Given the description of an element on the screen output the (x, y) to click on. 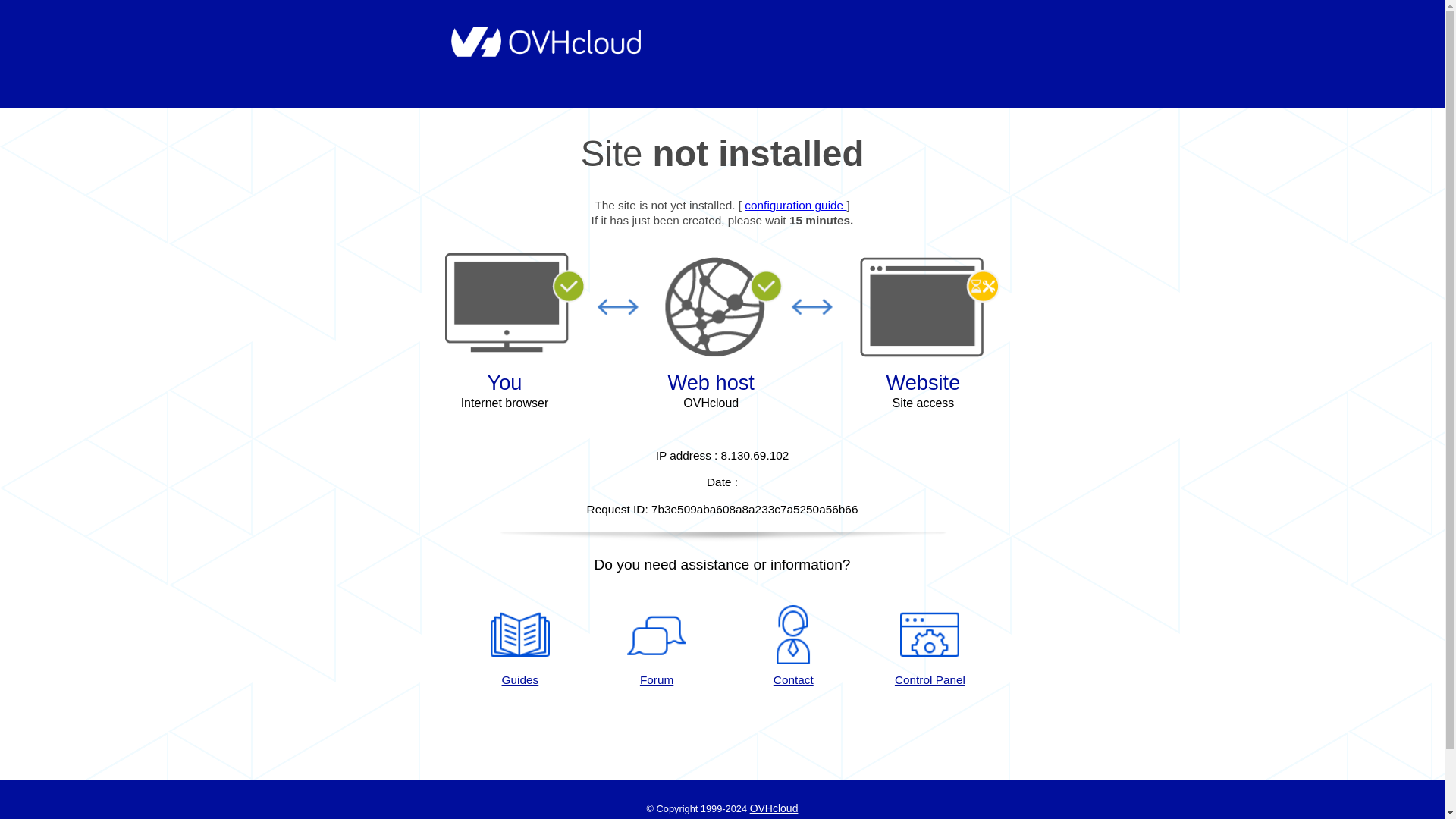
Guides (519, 646)
Control Panel (930, 646)
Control Panel (930, 646)
Guides (519, 646)
Guides (794, 205)
Contact (793, 646)
Forum (656, 646)
Forum (656, 646)
OVHcloud (773, 808)
configuration guide (794, 205)
Contact (793, 646)
